Given the description of an element on the screen output the (x, y) to click on. 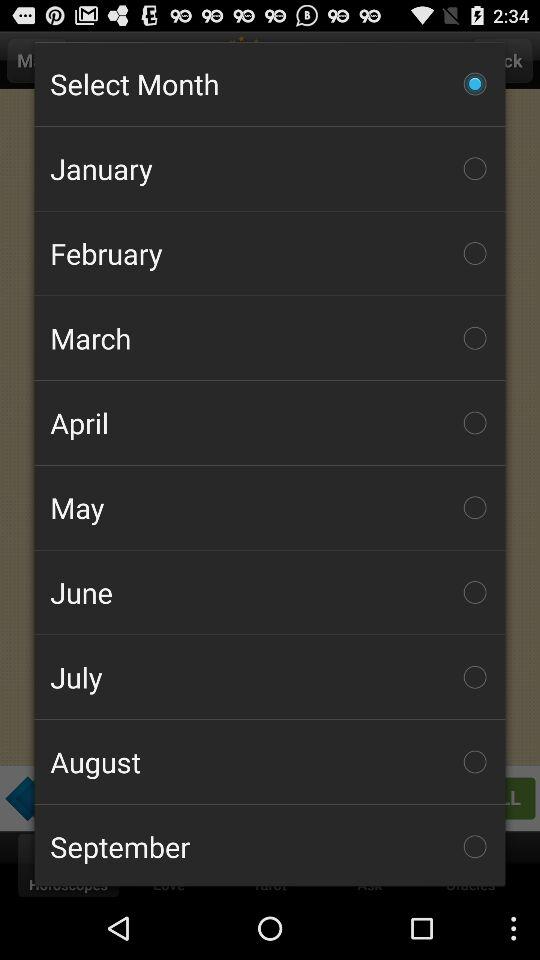
press the icon above the august item (269, 677)
